Given the description of an element on the screen output the (x, y) to click on. 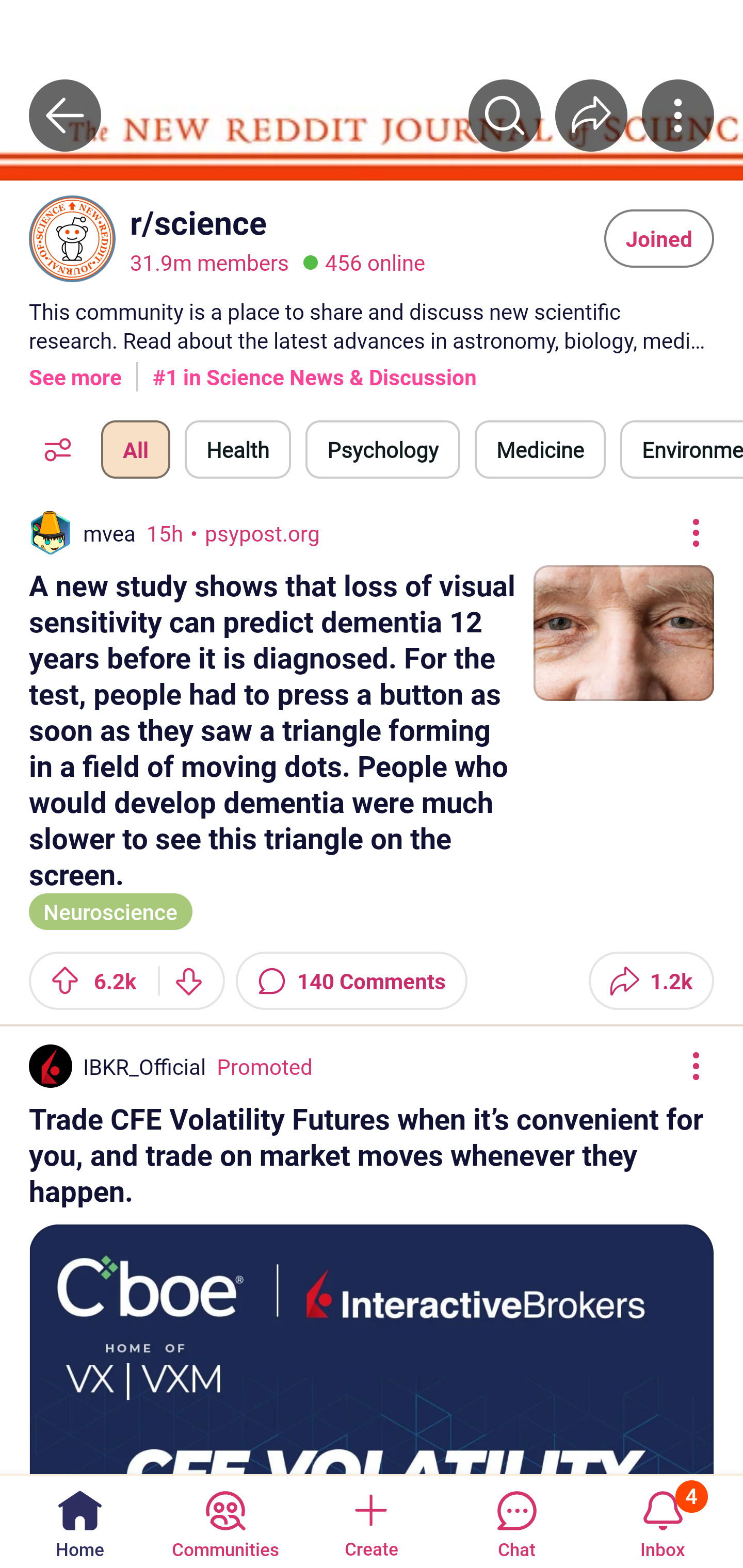
Back (64, 115)
Search r/﻿science (504, 115)
Share r/﻿science (591, 115)
More community actions (677, 115)
Feed Options (53, 449)
All (135, 449)
Health (238, 449)
Psychology (382, 449)
Medicine (539, 449)
Environment (681, 449)
Neuroscience (110, 909)
Home (80, 1520)
Communities (225, 1520)
Create a post Create (370, 1520)
Chat (516, 1520)
Inbox, has 4 notifications 4 Inbox (662, 1520)
